Given the description of an element on the screen output the (x, y) to click on. 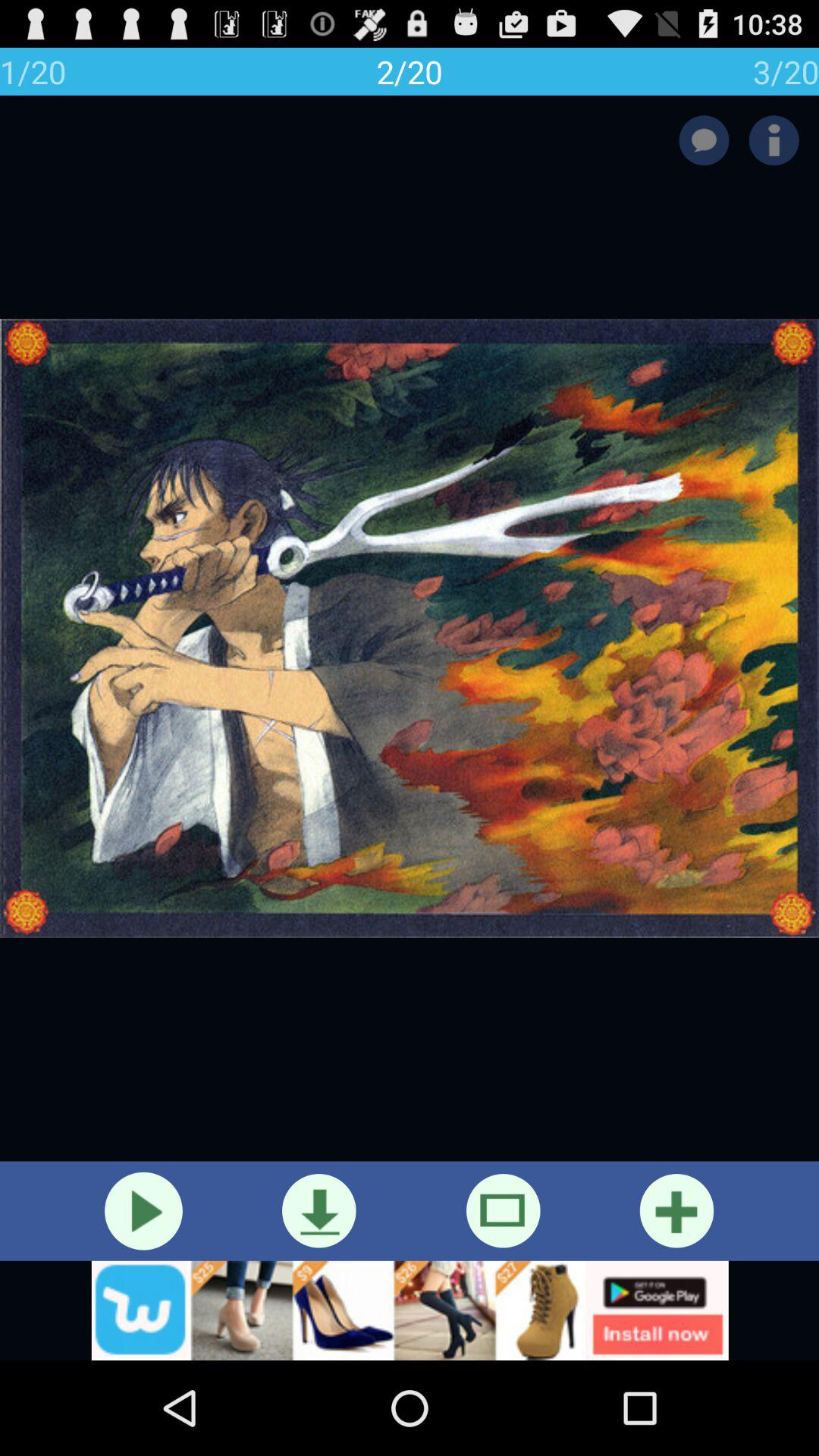
show outside advertisement (409, 1310)
